Given the description of an element on the screen output the (x, y) to click on. 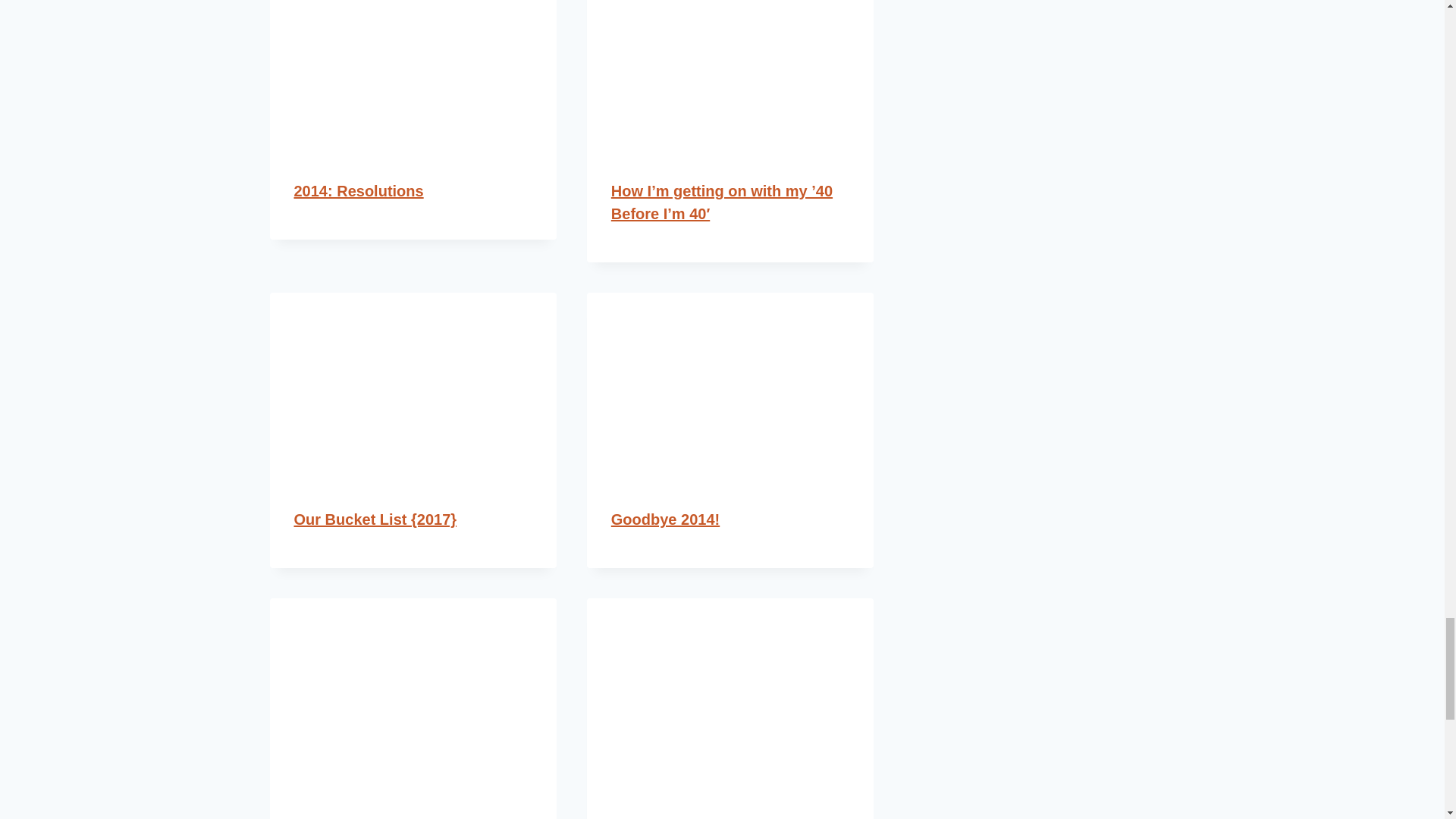
2014: Resolutions (358, 190)
Goodbye 2014! (665, 519)
